Given the description of an element on the screen output the (x, y) to click on. 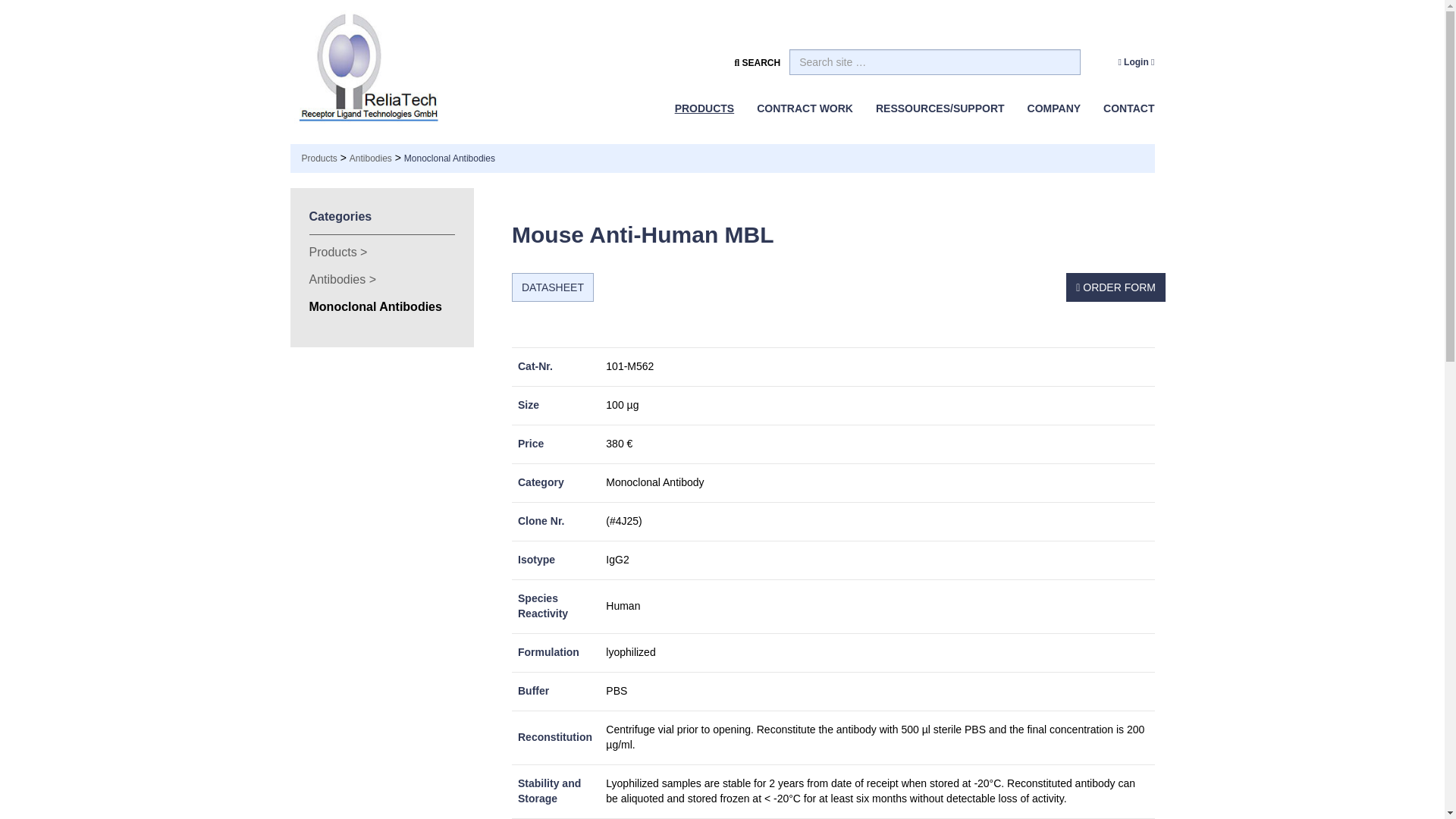
PRODUCTS (704, 107)
CONTRACT WORK (804, 107)
CONTACT (1123, 107)
SEARCH (761, 62)
COMPANY (1054, 107)
Login (1136, 62)
